Given the description of an element on the screen output the (x, y) to click on. 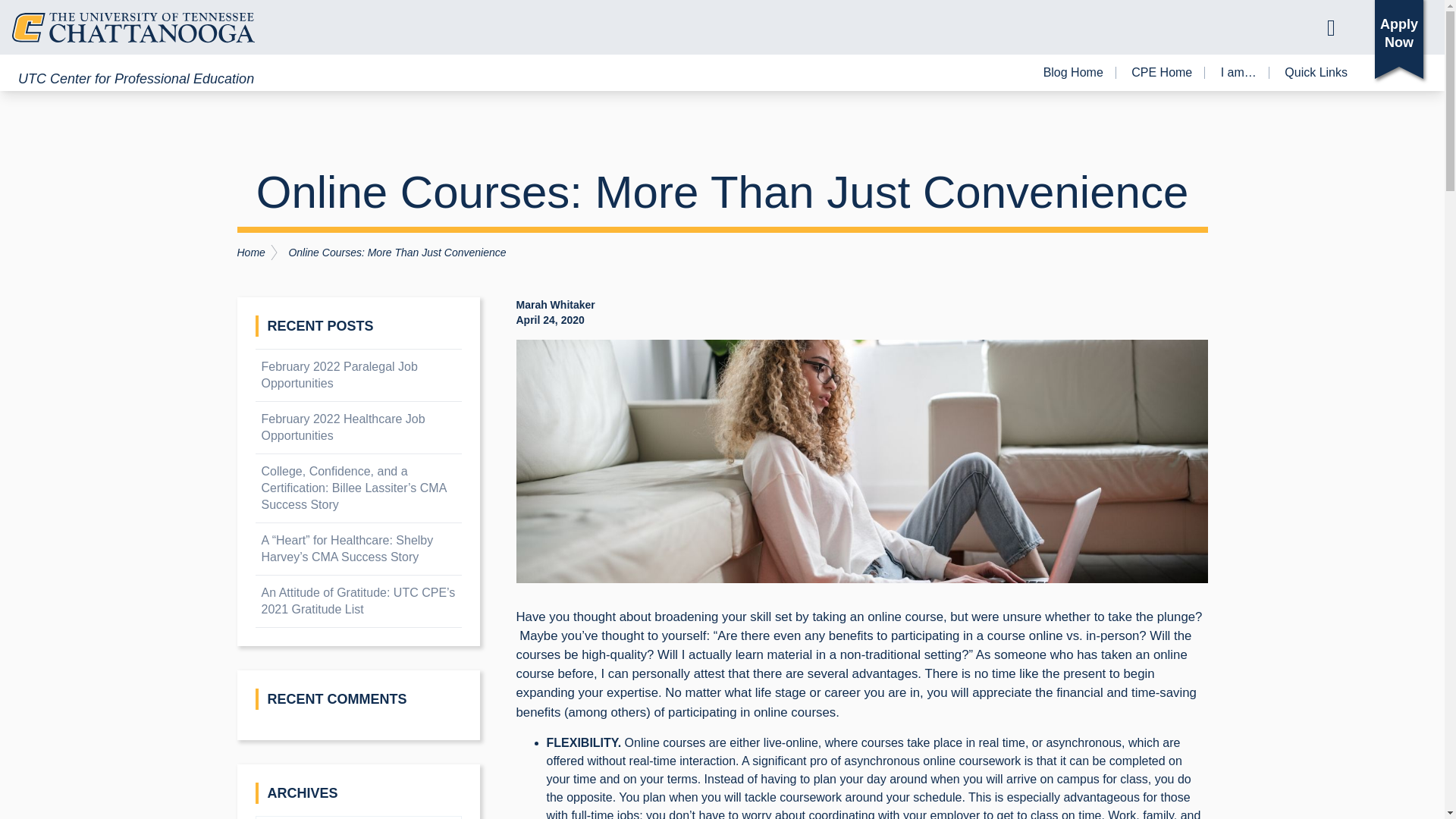
Marah Whitaker (554, 304)
Blog Home (1073, 72)
Quick Links (1315, 72)
Show Search (1331, 27)
UTC Center for Professional Education (135, 78)
Home (261, 252)
CPE Home (1162, 72)
